Given the description of an element on the screen output the (x, y) to click on. 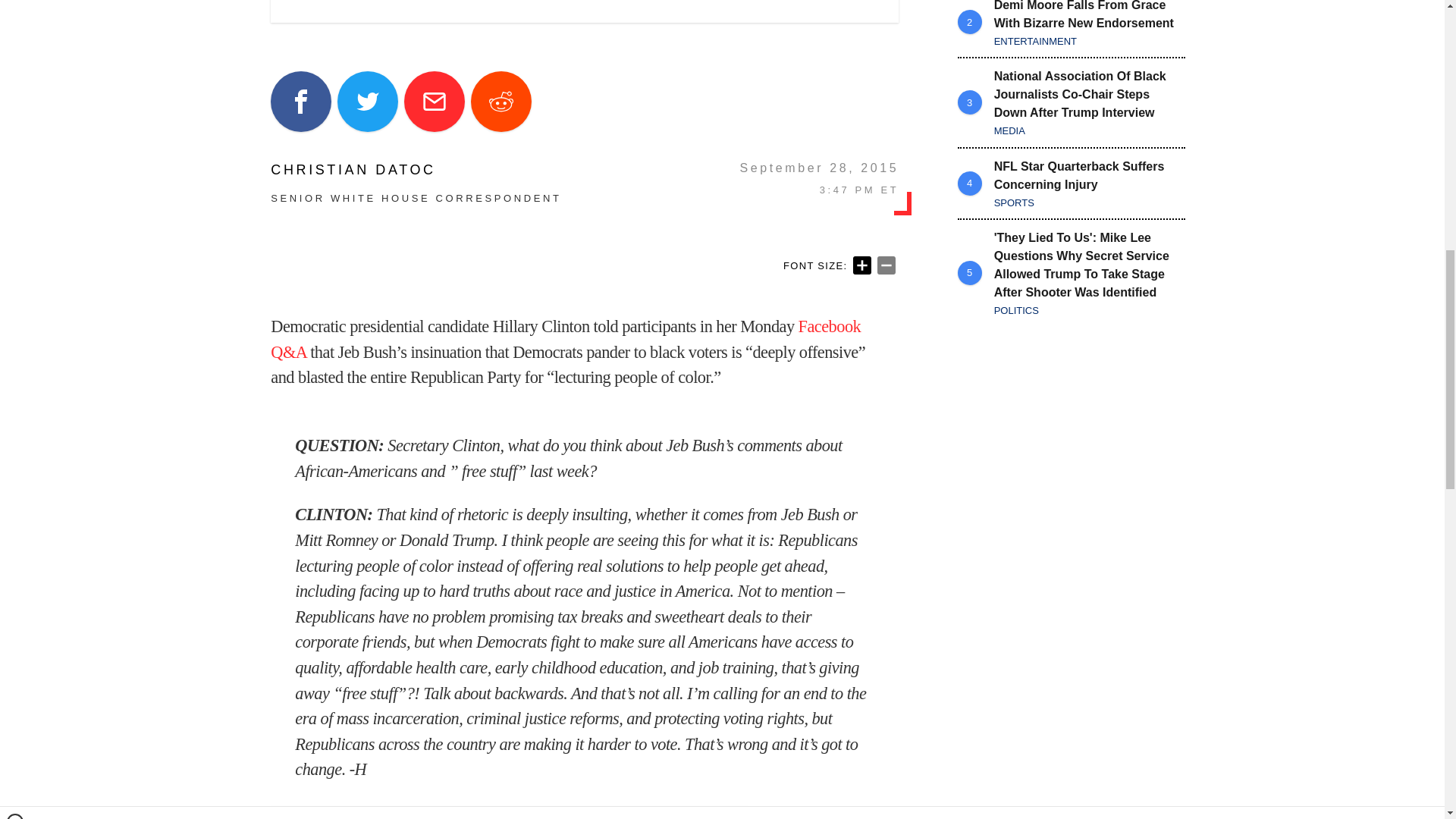
CHRISTIAN DATOC (415, 169)
View More Articles By Christian Datoc (415, 169)
Close window (14, 6)
